Given the description of an element on the screen output the (x, y) to click on. 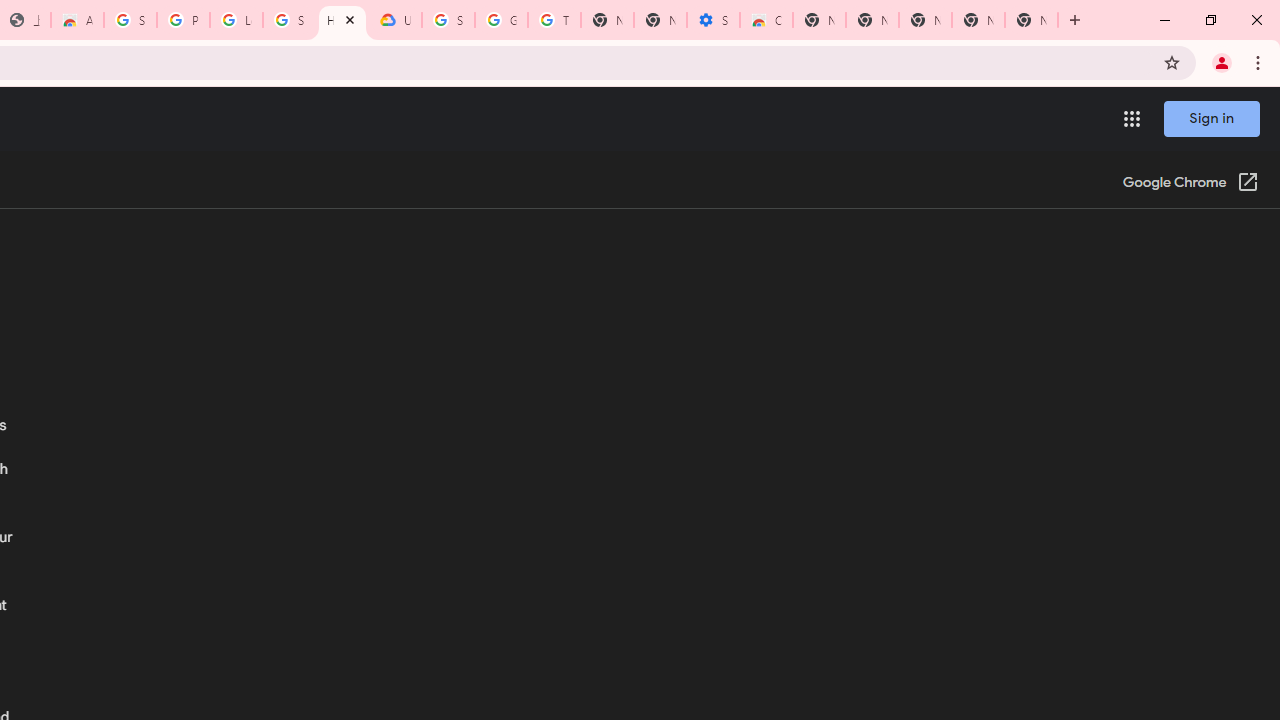
New Tab (925, 20)
Chrome Web Store - Accessibility extensions (766, 20)
Sign in - Google Accounts (289, 20)
New Tab (1031, 20)
New Tab (819, 20)
Google Chrome (Open in a new window) (1190, 183)
Awesome Screen Recorder & Screenshot - Chrome Web Store (77, 20)
Google Account Help (501, 20)
Sign in - Google Accounts (448, 20)
